Given the description of an element on the screen output the (x, y) to click on. 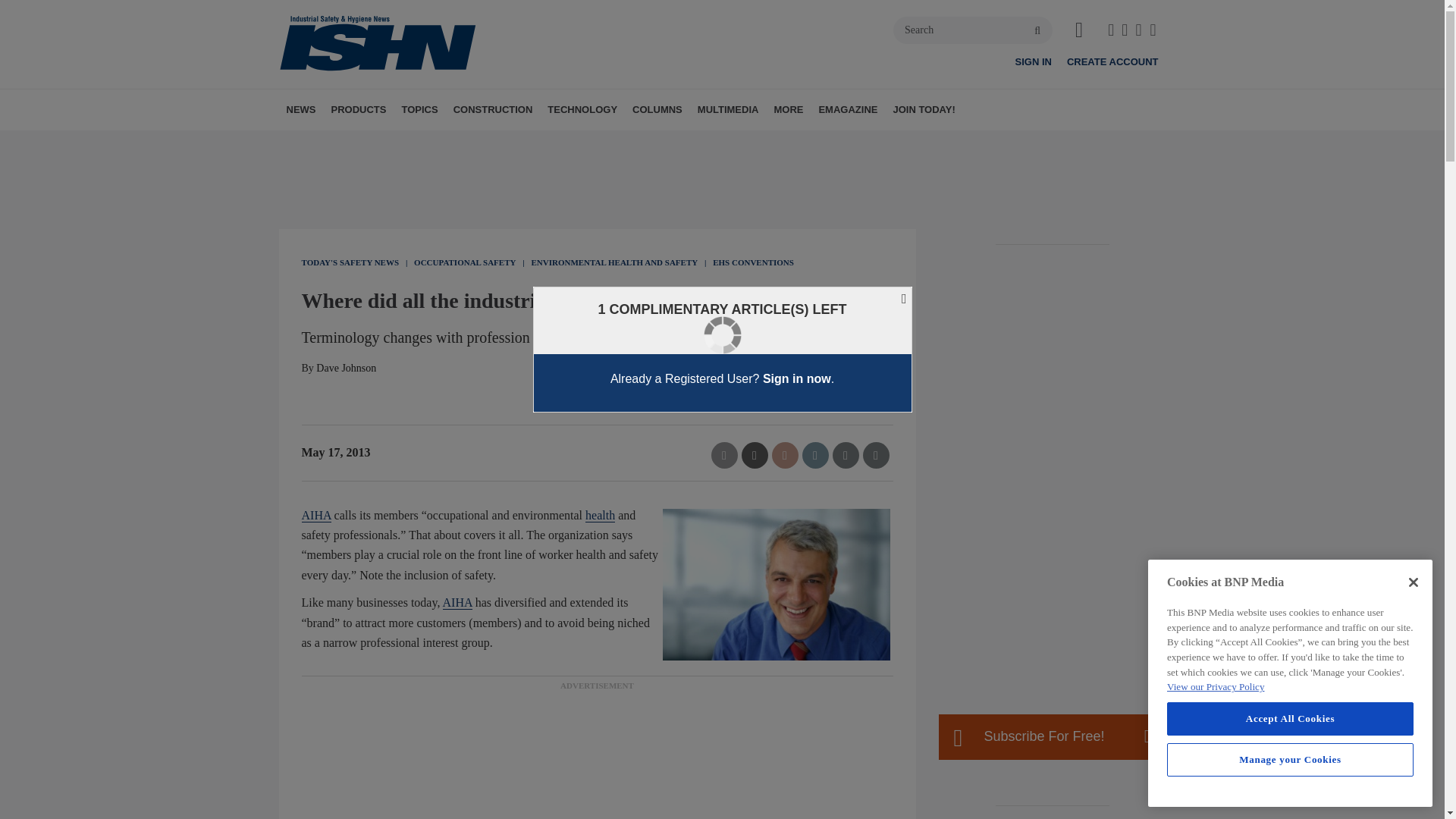
Search (972, 30)
Search (972, 30)
